Given the description of an element on the screen output the (x, y) to click on. 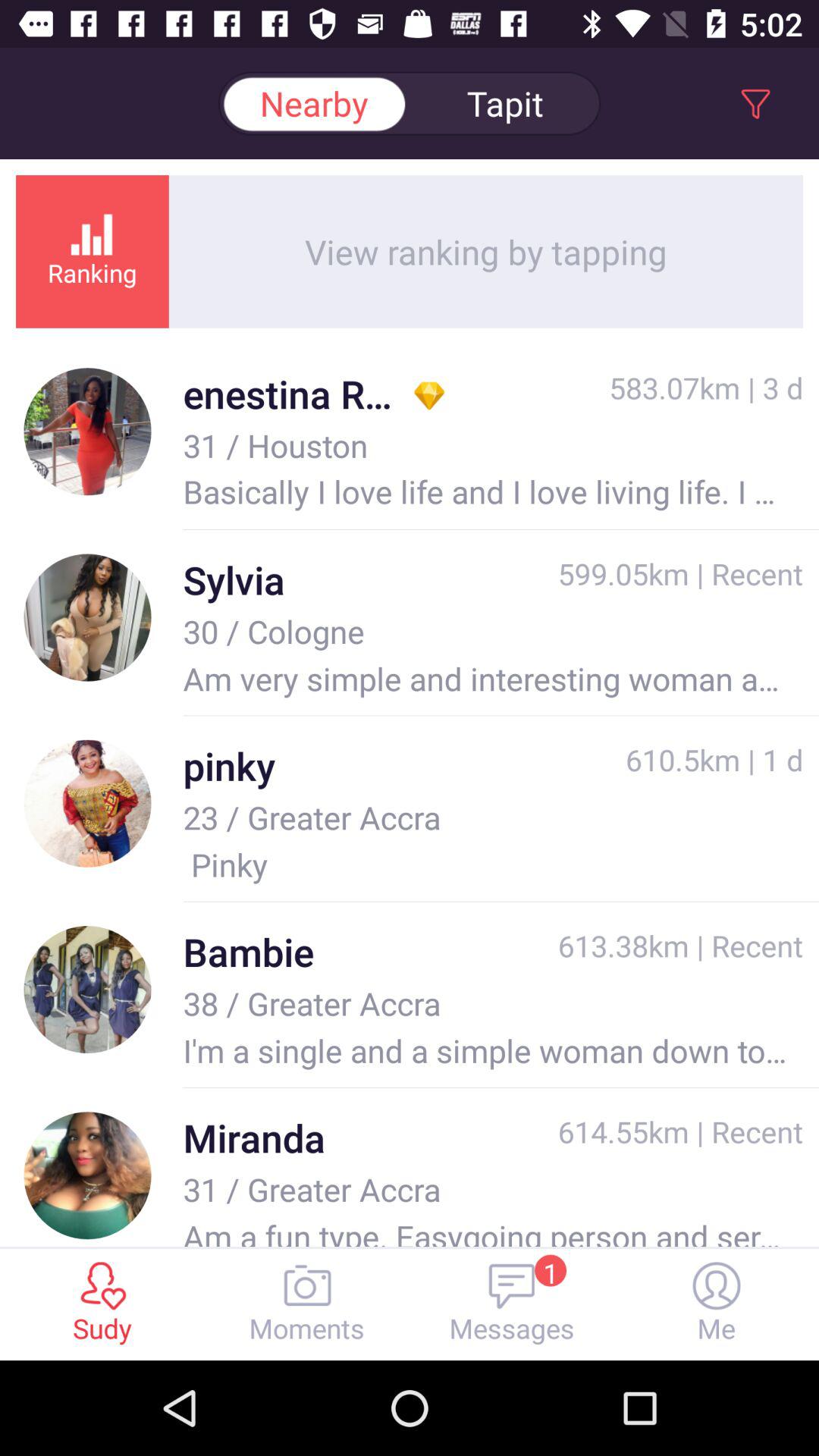
turn off icon above the view ranking by icon (504, 103)
